Given the description of an element on the screen output the (x, y) to click on. 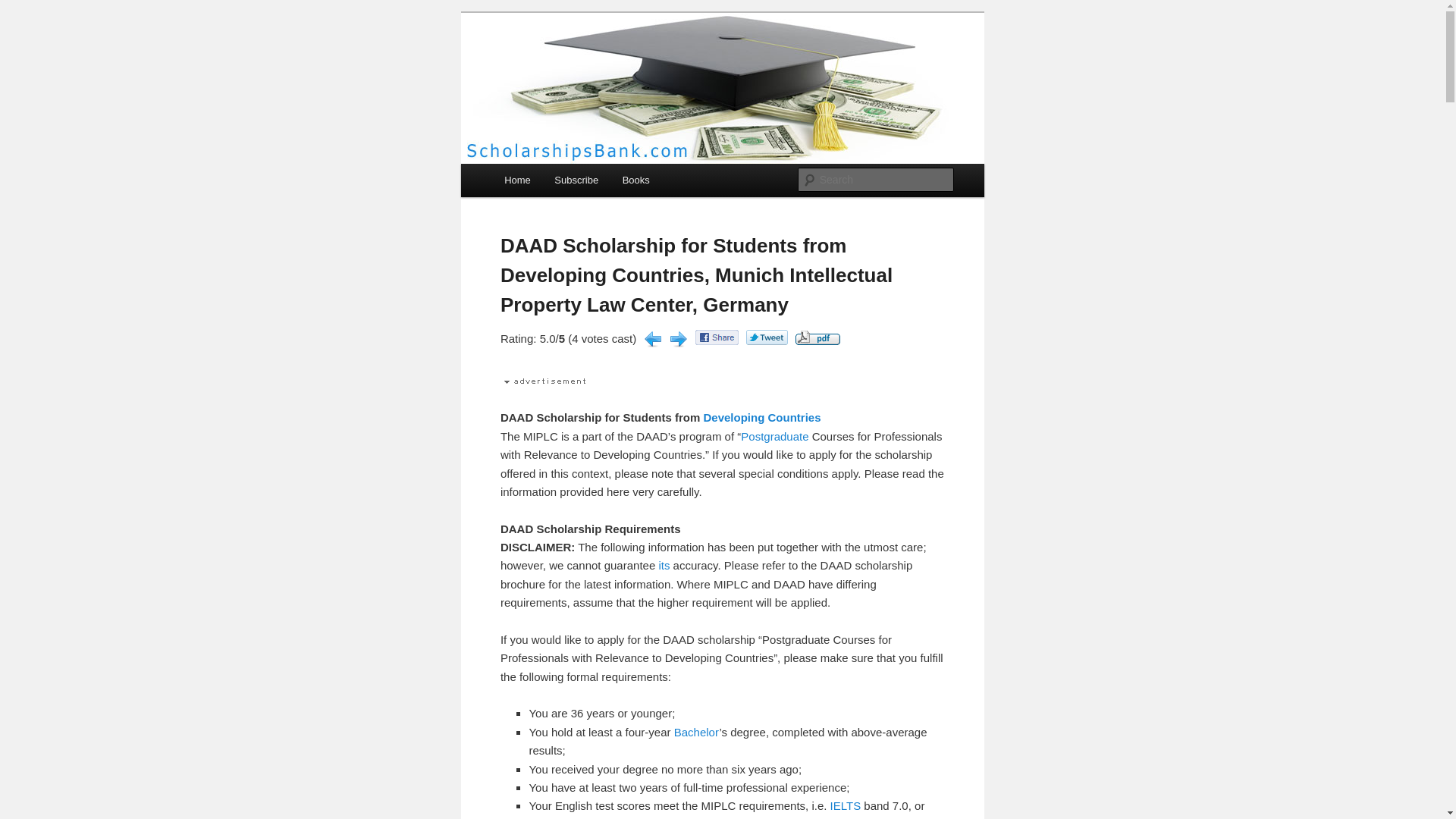
Next Post (678, 339)
Subscribe (576, 179)
Bachelor (696, 731)
Scholarships Bank (602, 67)
Postgraduate (774, 436)
Scholarships Bank (602, 67)
Developing Countries (762, 417)
Previous Post (652, 339)
Download this article as PDF (817, 340)
IELTS (845, 805)
